Given the description of an element on the screen output the (x, y) to click on. 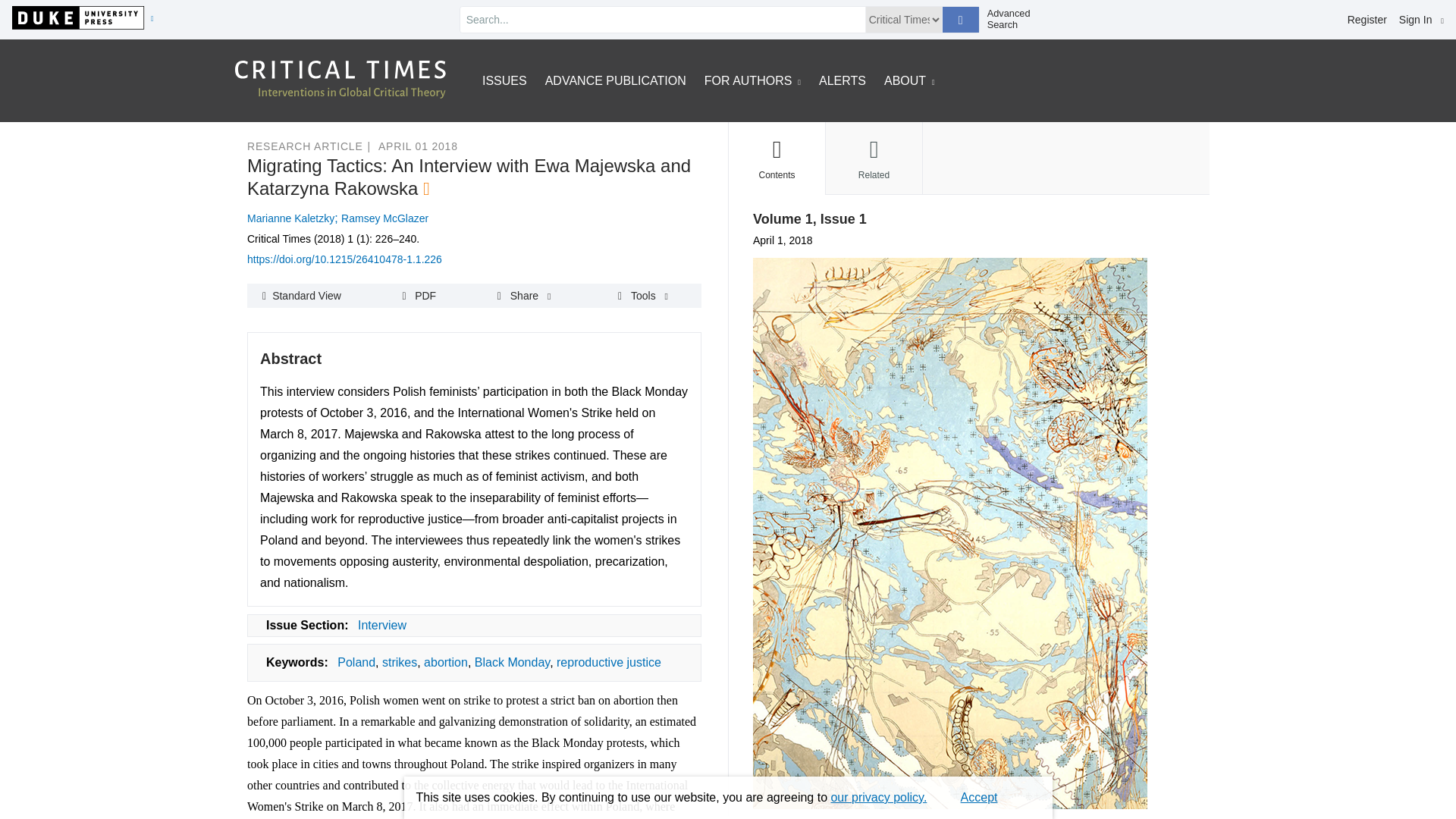
Register (1367, 19)
Sign In (1421, 19)
Advanced Search (1014, 19)
FOR AUTHORS (752, 80)
ISSUES (504, 80)
ADVANCE PUBLICATION (614, 80)
search input (662, 19)
